Given the description of an element on the screen output the (x, y) to click on. 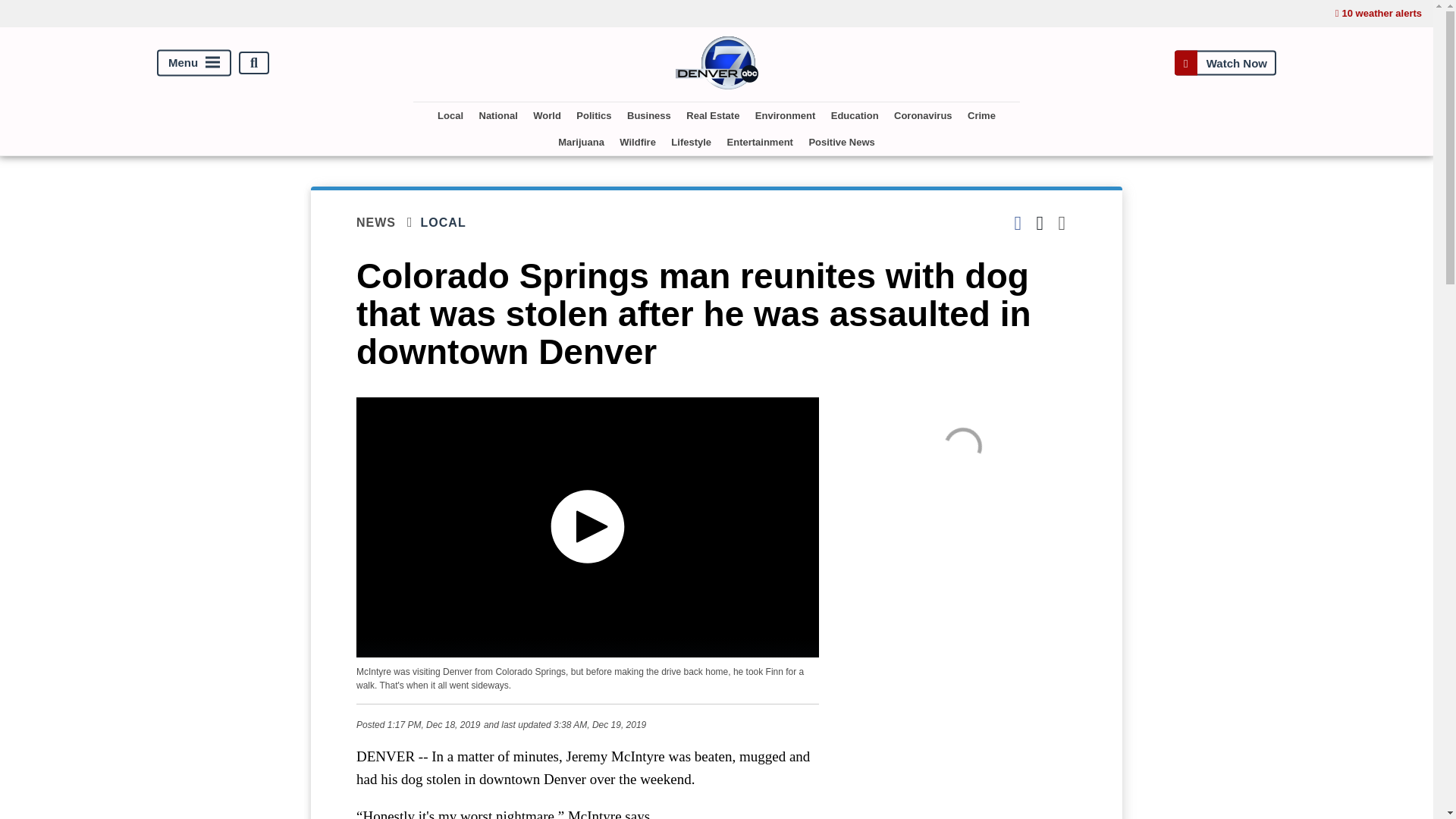
Menu (194, 62)
Copy: D7 BRAND SHOWCASING (962, 446)
Watch Now (1224, 62)
